Given the description of an element on the screen output the (x, y) to click on. 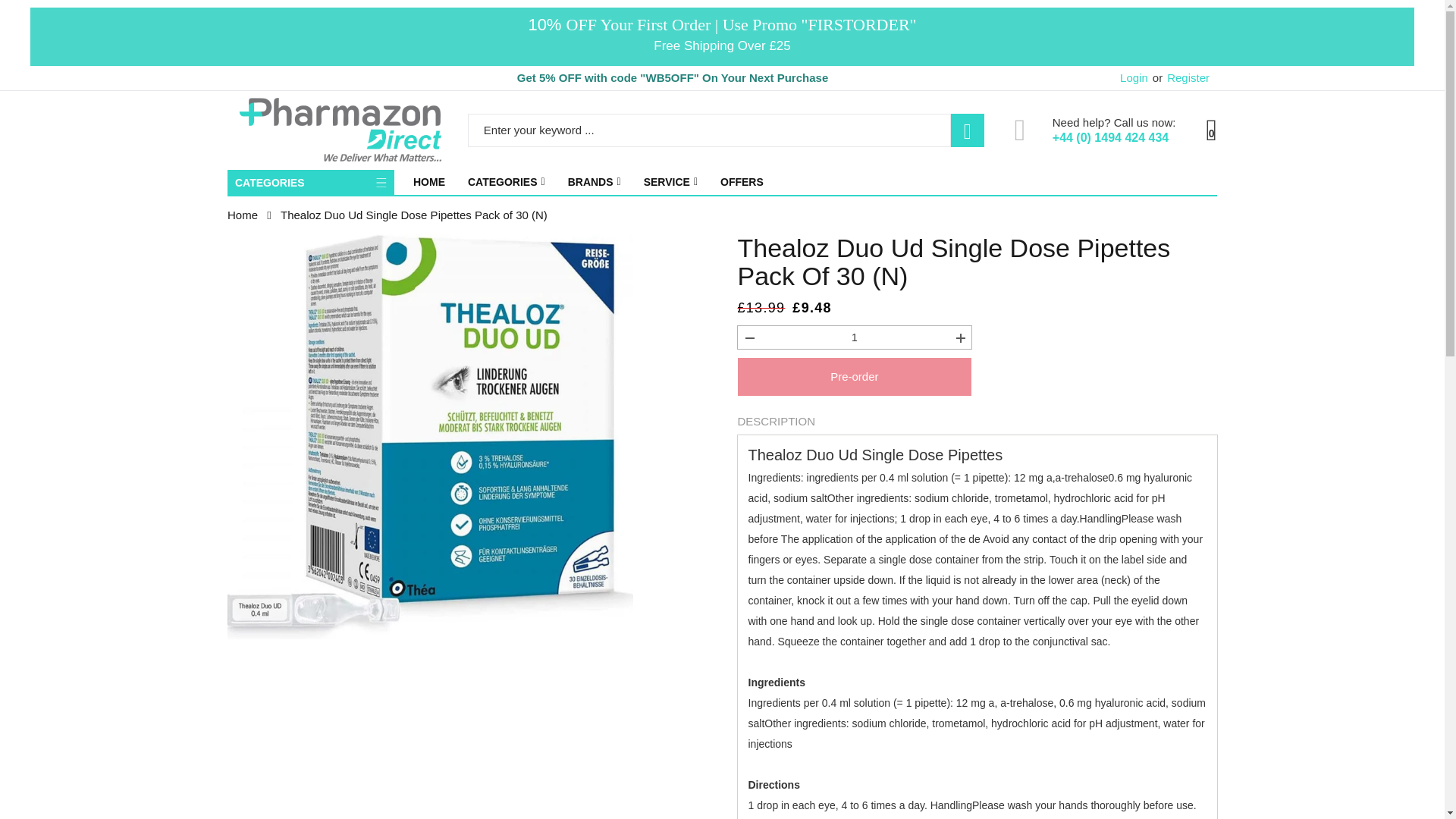
orRegister (1180, 78)
Login (1134, 78)
Back to the frontpage (242, 214)
1 (854, 336)
